Given the description of an element on the screen output the (x, y) to click on. 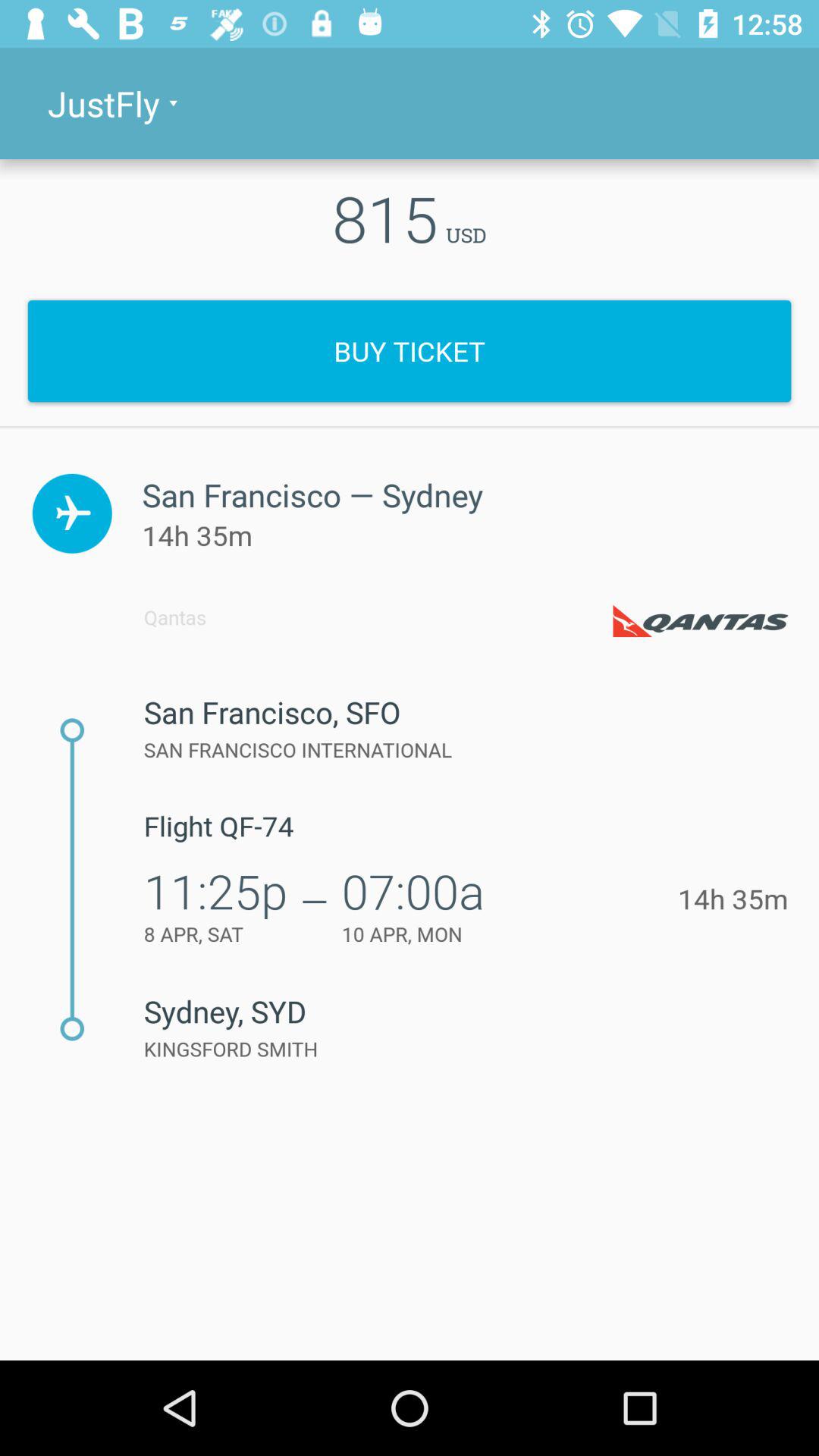
turn on icon below 815 item (409, 351)
